Given the description of an element on the screen output the (x, y) to click on. 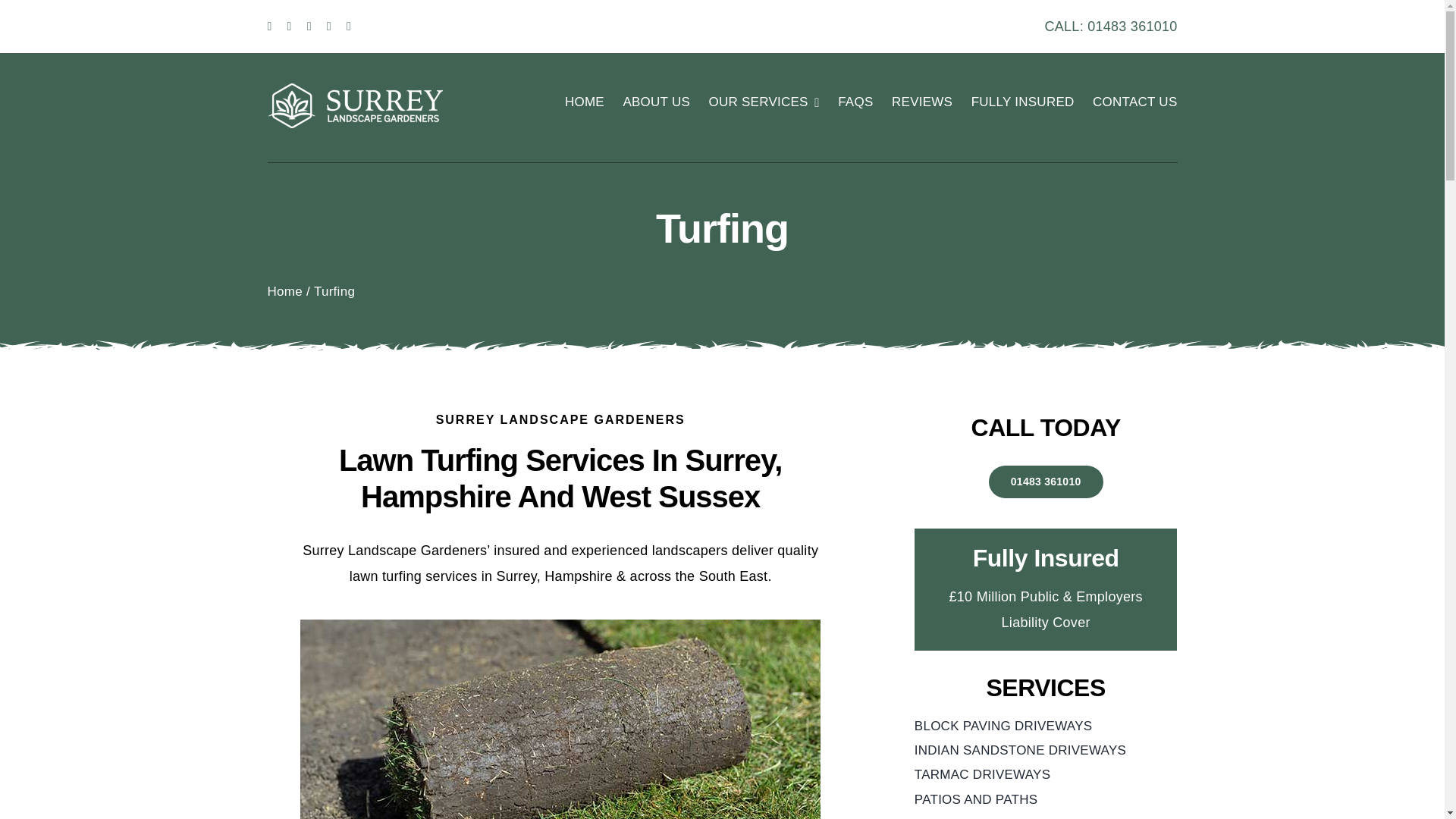
01483 361010 (1131, 26)
PATIOS AND PATHS (1045, 799)
About Us (656, 102)
TARMAC DRIVEWAYS (1045, 774)
ABOUT US (656, 102)
CONTACT US (1134, 102)
Home (283, 291)
OUR SERVICES (762, 102)
01483 361010 (1045, 481)
BLOCK PAVING DRIVEWAYS (1045, 726)
Our Services (762, 102)
FAQS (855, 102)
FENCING (1045, 815)
HOME (584, 102)
INDIAN SANDSTONE DRIVEWAYS (1045, 750)
